Given the description of an element on the screen output the (x, y) to click on. 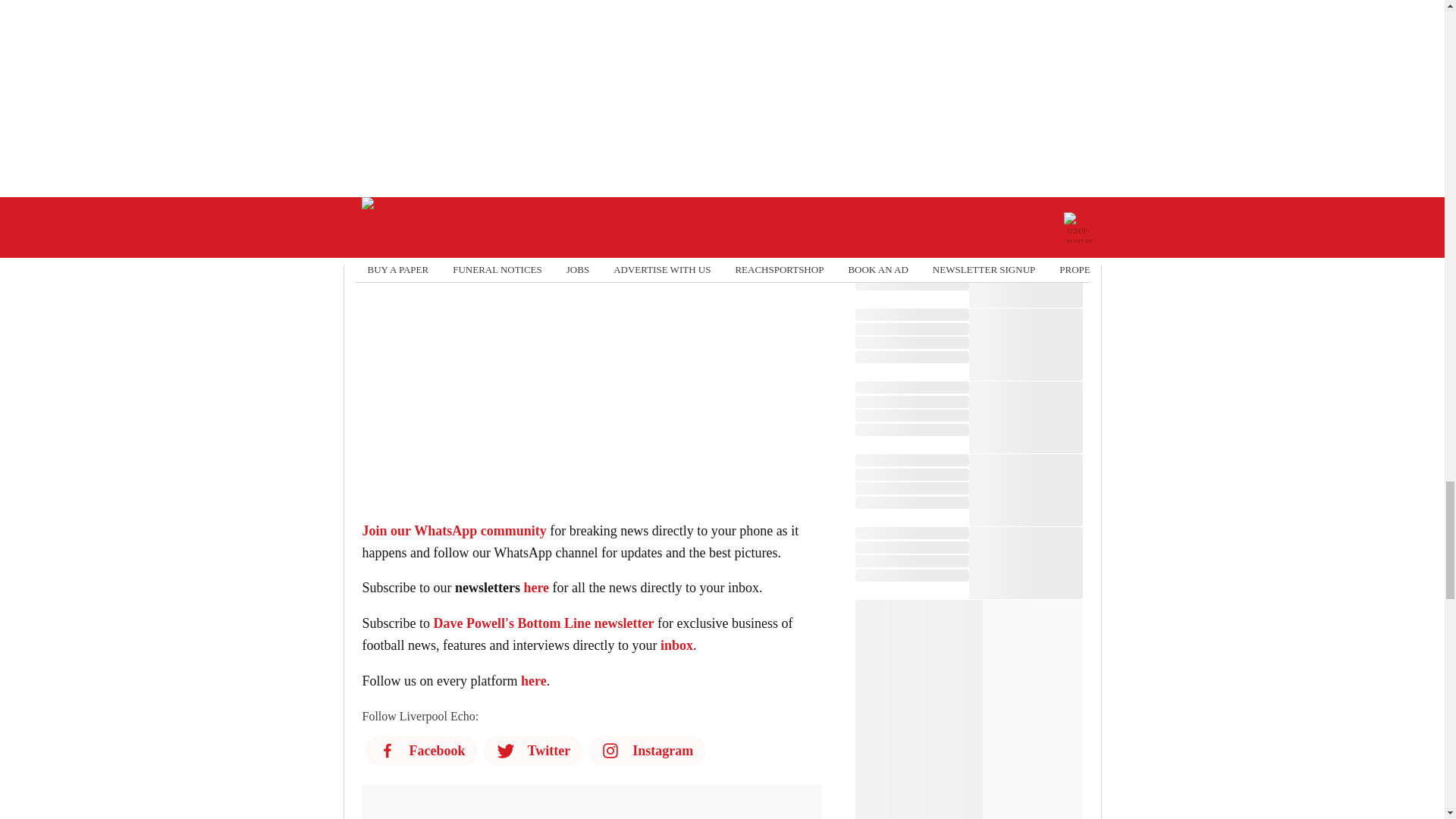
here (411, 96)
Facebook (464, 130)
here (511, 96)
